Given the description of an element on the screen output the (x, y) to click on. 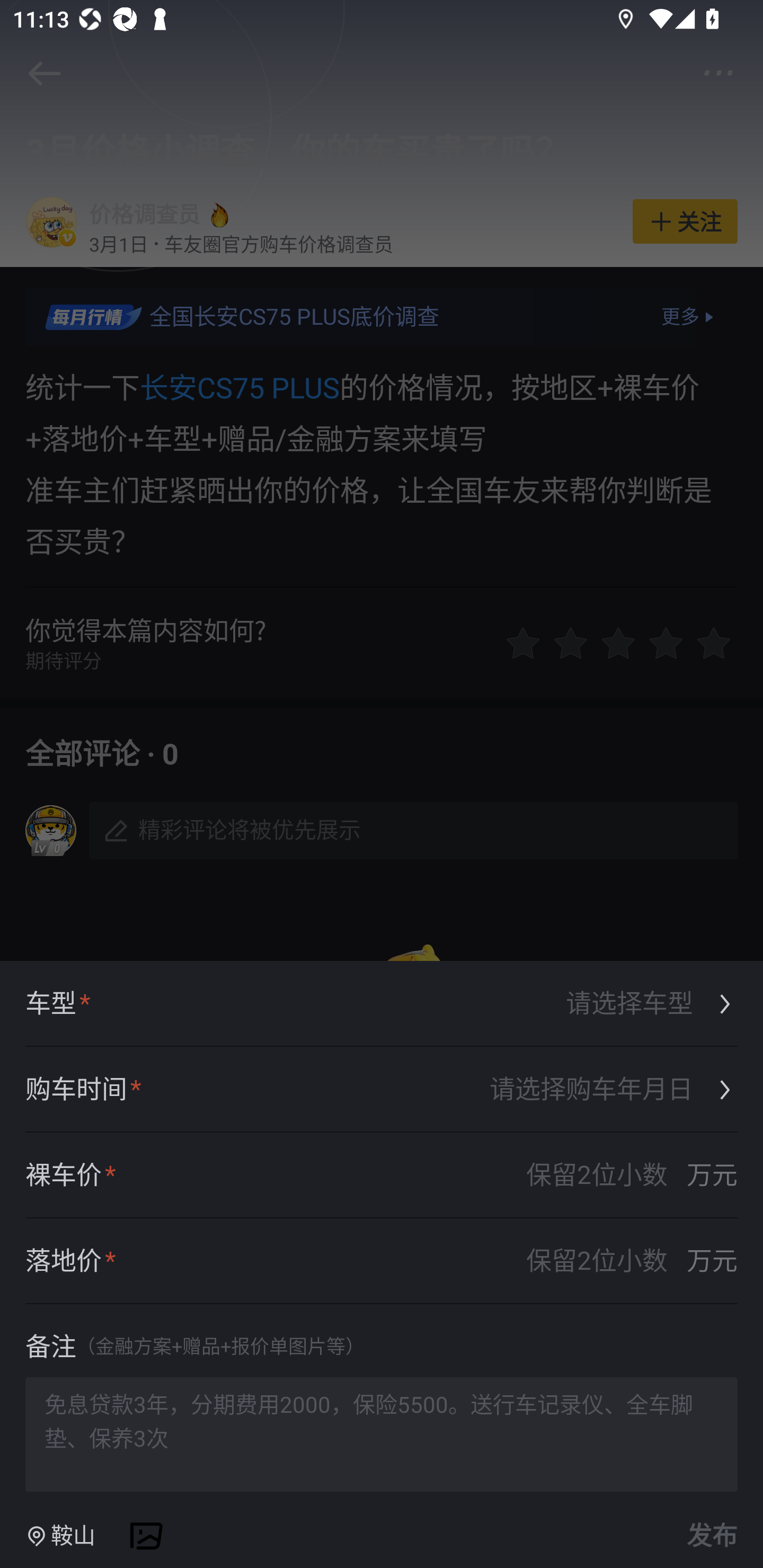
车型 * 请选择车型 (381, 1004)
购车时间 * 请选择购车年月日 (381, 1089)
免息贷款3年，分期费用2000，保险5500。送行车记录仪、全车脚垫、保养3次 (381, 1433)
发布 (708, 1535)
鞍山 (60, 1536)
